Given the description of an element on the screen output the (x, y) to click on. 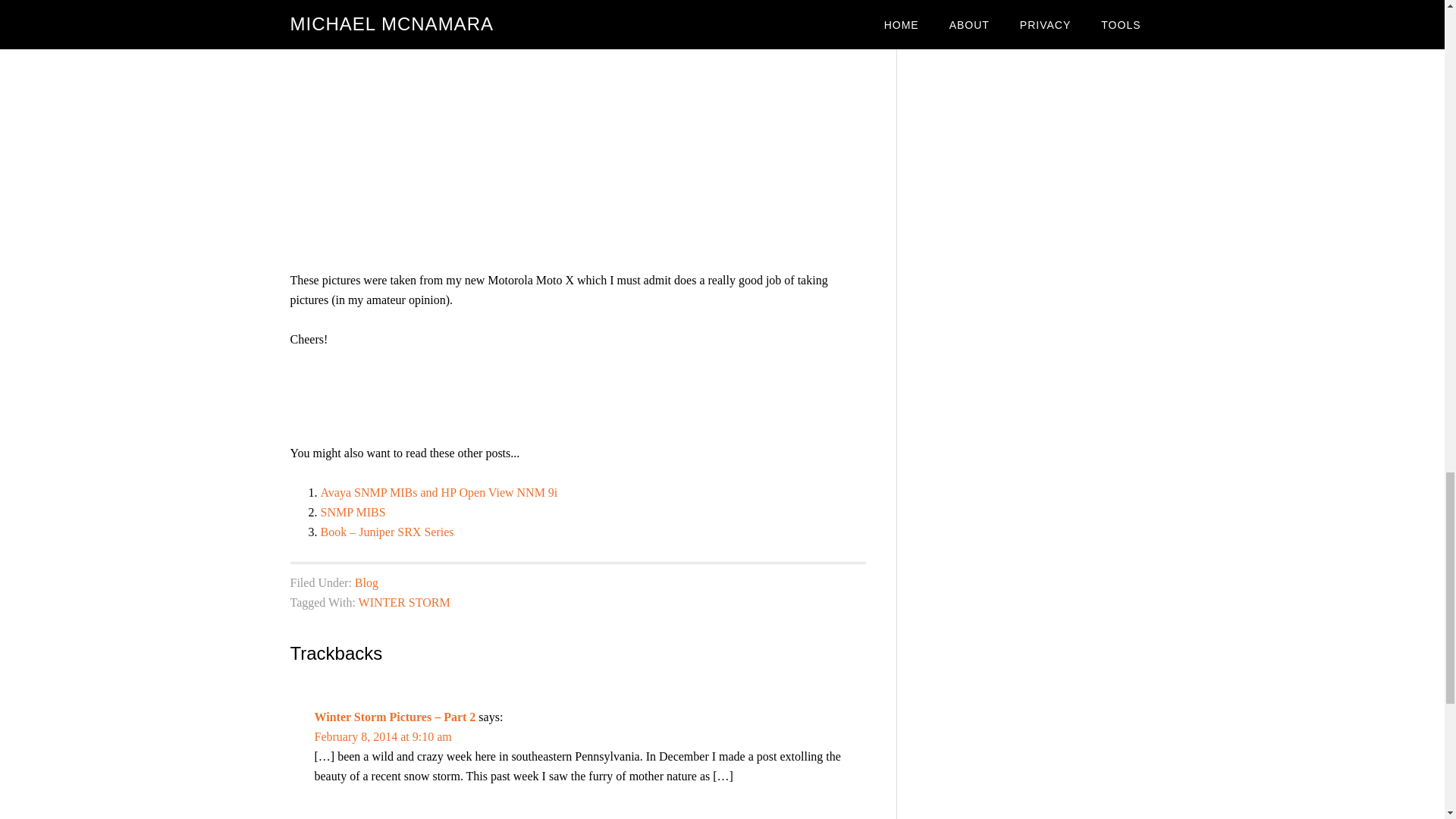
SNMP MIBS (352, 512)
Avaya SNMP MIBs and HP Open View NNM 9i (438, 492)
WINTER STORM (403, 602)
SNMP MIBS (352, 512)
Blog (366, 582)
Avaya SNMP MIBs and HP Open View NNM 9i (438, 492)
February 8, 2014 at 9:10 am (382, 736)
